Given the description of an element on the screen output the (x, y) to click on. 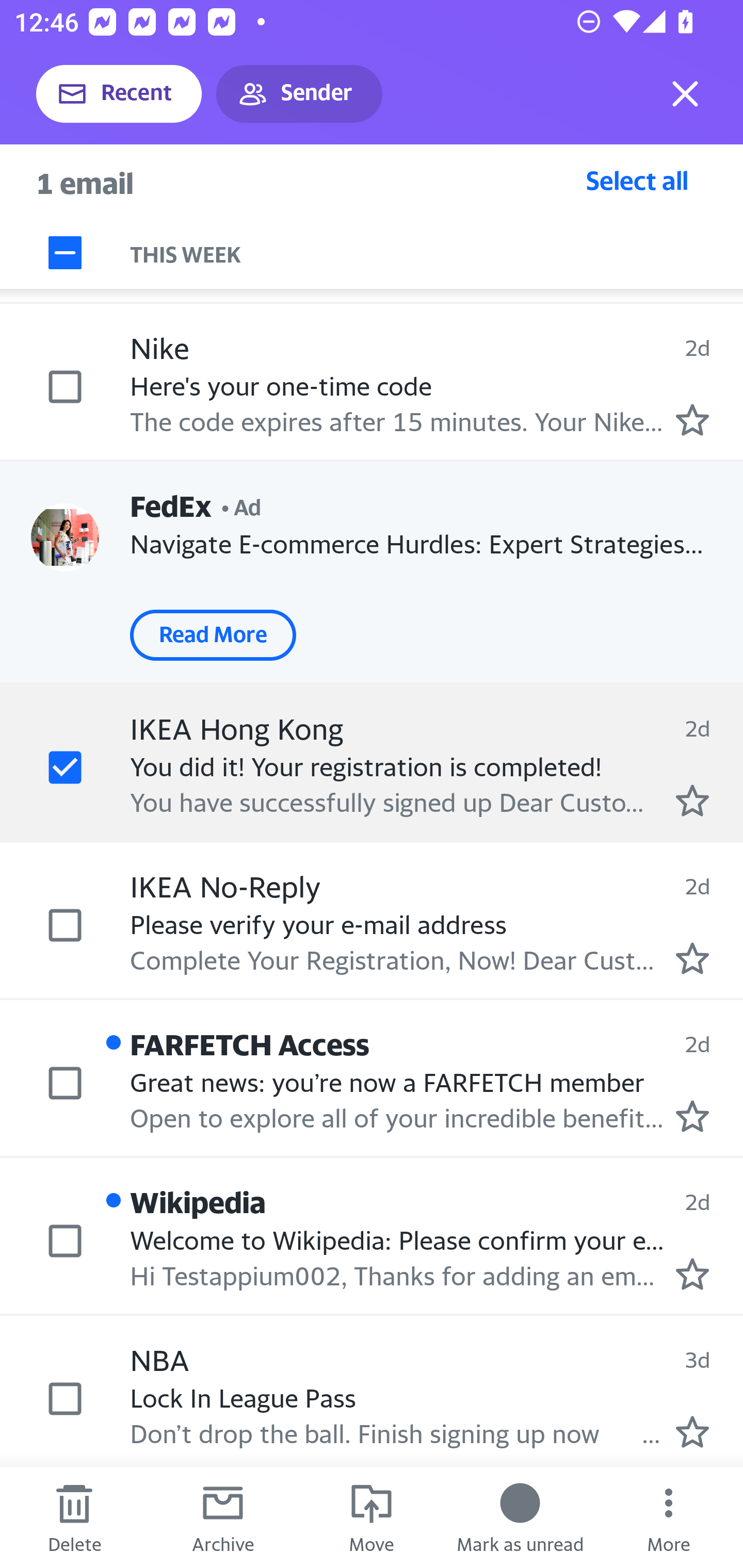
Sender (299, 93)
Exit selection mode (684, 93)
Select all (637, 180)
Mark as starred. (692, 419)
Mark as starred. (692, 800)
Mark as starred. (692, 958)
Mark as starred. (692, 1115)
Mark as starred. (692, 1273)
Mark as starred. (692, 1432)
Delete (74, 1517)
Archive (222, 1517)
Move (371, 1517)
Mark as unread (519, 1517)
More (668, 1517)
